Given the description of an element on the screen output the (x, y) to click on. 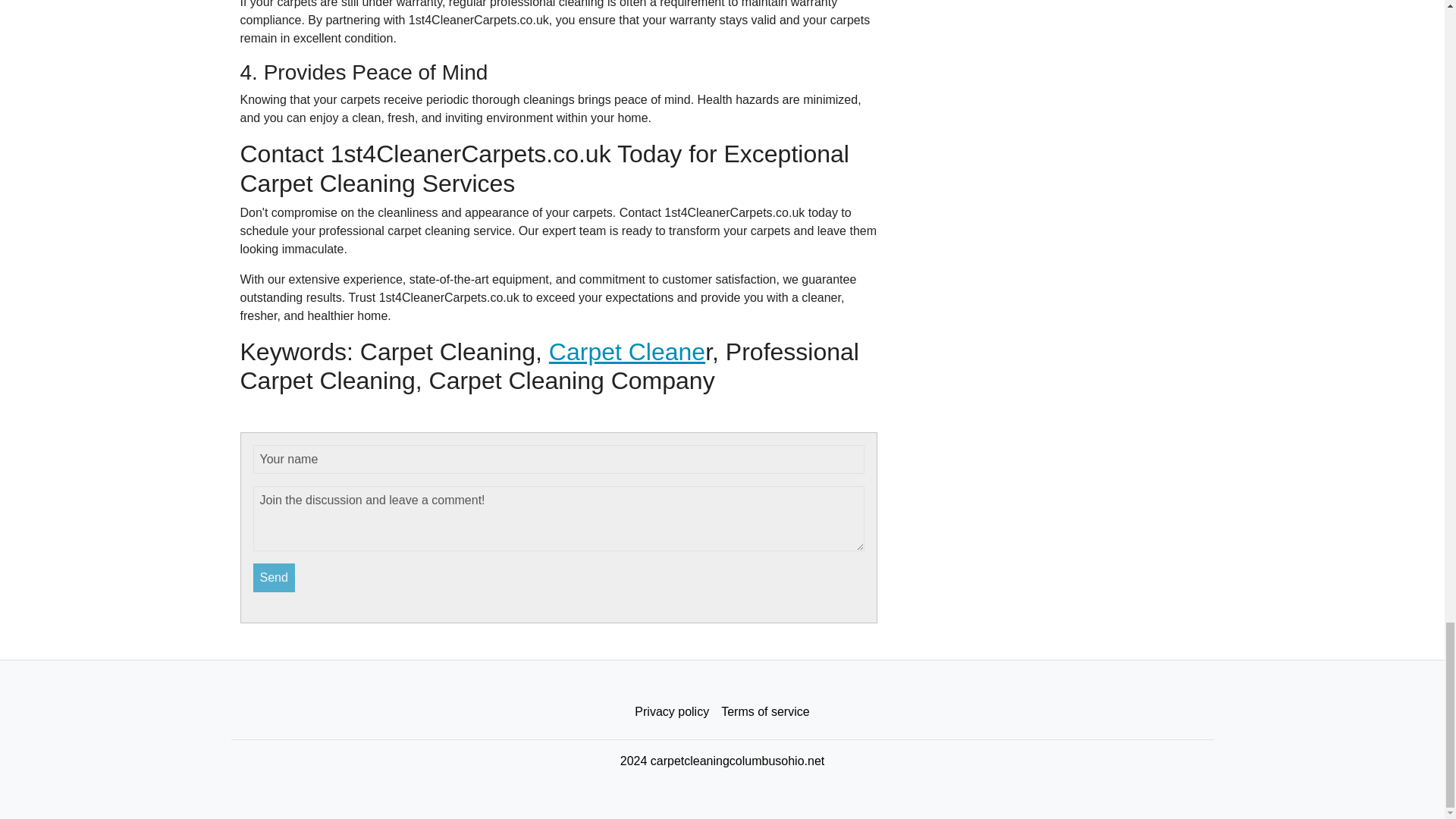
Send (274, 577)
Carpet Cleane (626, 351)
Send (274, 577)
Terms of service (764, 711)
Privacy policy (671, 711)
